Given the description of an element on the screen output the (x, y) to click on. 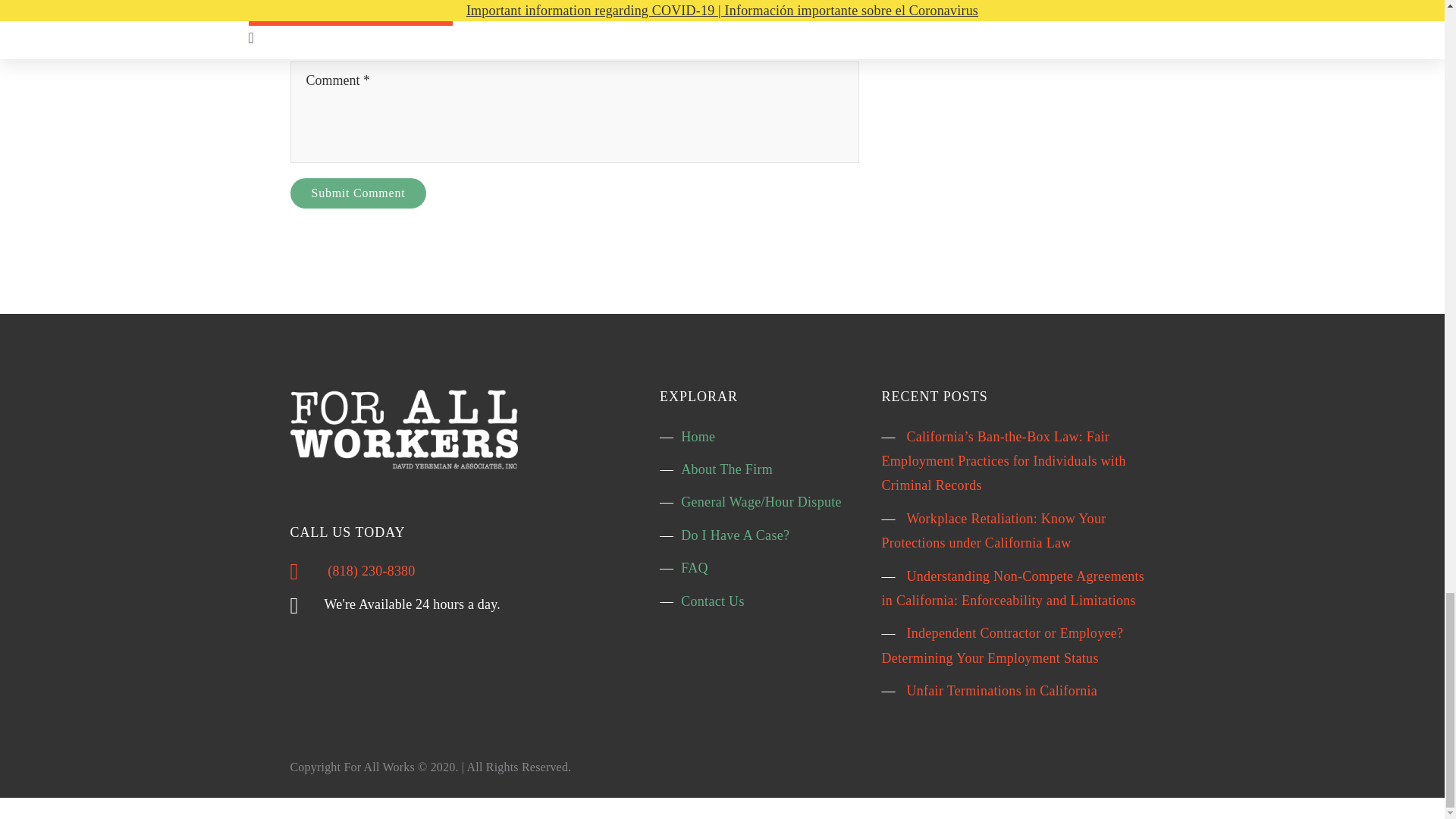
Submit Comment (357, 193)
